Given the description of an element on the screen output the (x, y) to click on. 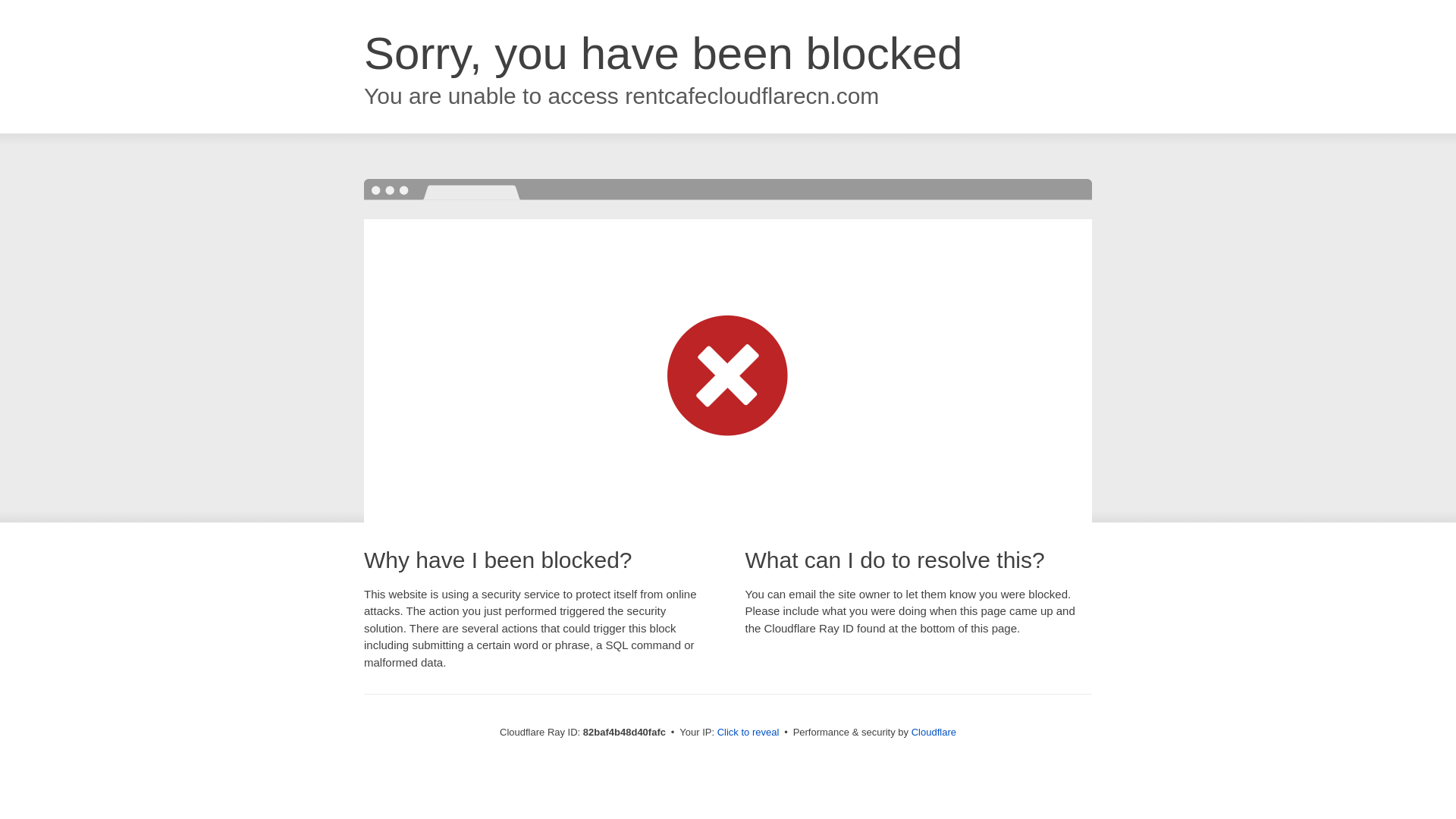
Cloudflare Element type: text (933, 731)
Click to reveal Element type: text (748, 732)
